Given the description of an element on the screen output the (x, y) to click on. 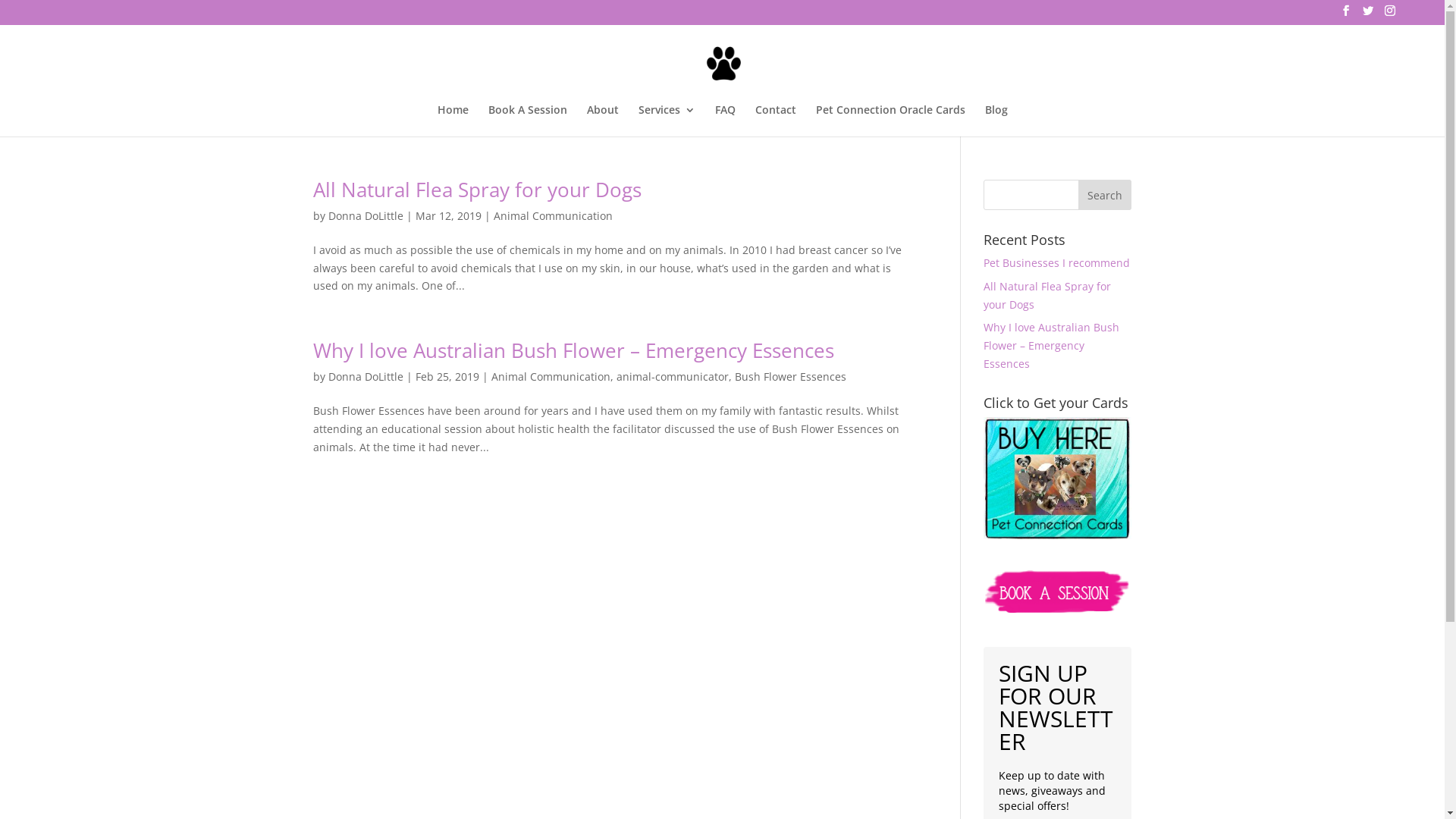
Animal Communication Element type: text (551, 215)
All Natural Flea Spray for your Dogs Element type: text (1046, 295)
Contact Element type: text (775, 120)
Book A Session Element type: text (527, 120)
Donna DoLittle Element type: text (364, 215)
Blog Element type: text (995, 120)
Bush Flower Essences Element type: text (789, 376)
Home Element type: text (451, 120)
Search Element type: text (1104, 194)
Services Element type: text (666, 120)
Donna DoLittle Element type: text (364, 376)
Pet Connection Oracle Cards Element type: text (890, 120)
Pet Businesses I recommend Element type: text (1056, 262)
animal-communicator Element type: text (671, 376)
About Element type: text (602, 120)
Animal Communication Element type: text (550, 376)
FAQ Element type: text (724, 120)
All Natural Flea Spray for your Dogs Element type: text (476, 189)
